Given the description of an element on the screen output the (x, y) to click on. 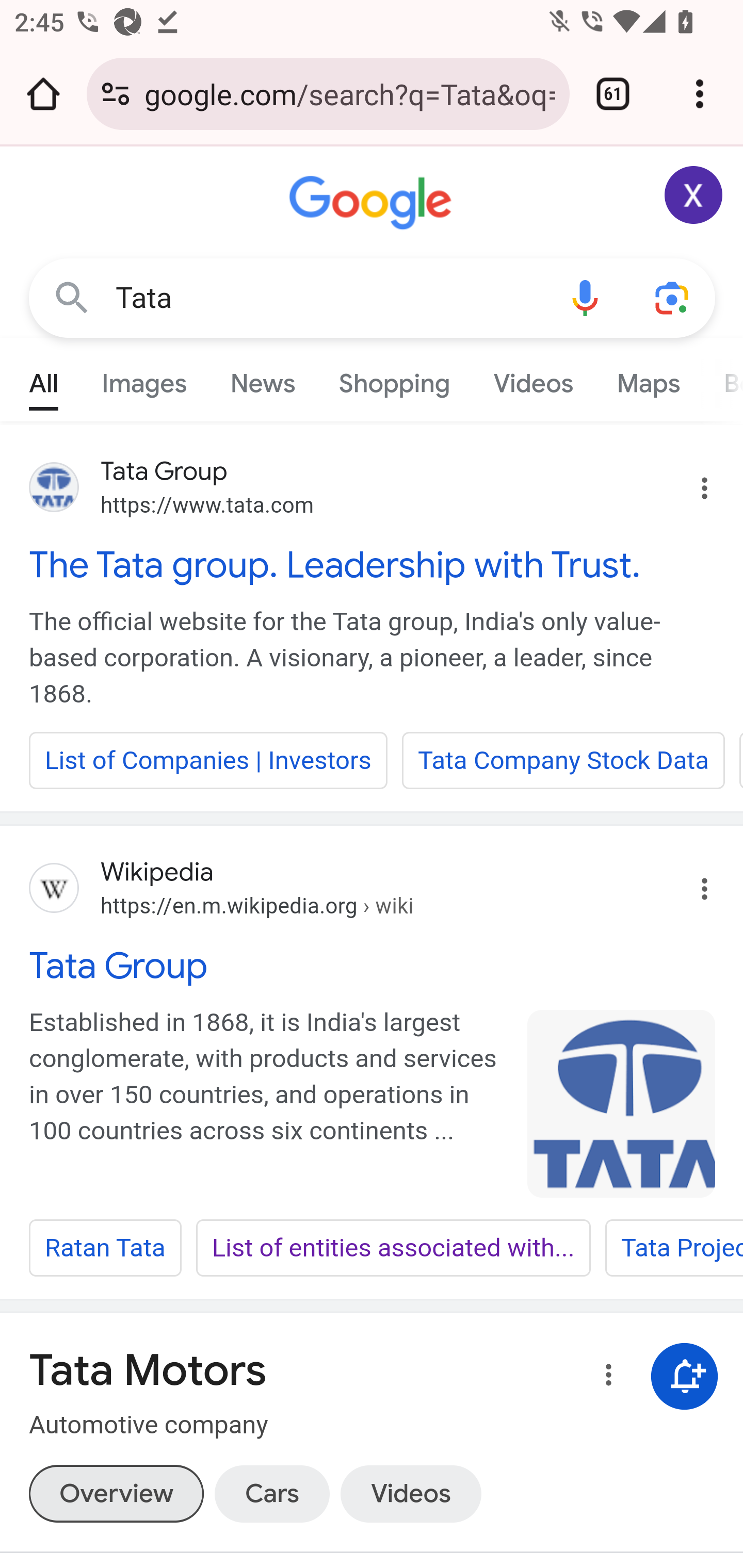
Open the home page (43, 93)
Connection is secure (115, 93)
Switch or close tabs (612, 93)
Customize and control Google Chrome (699, 93)
Google (372, 203)
Google Account: Xiaoran (zxrappiumtest@gmail.com) (694, 195)
Google Search (71, 296)
Search using your camera or photos (672, 296)
Tata (328, 297)
Images (144, 378)
News (262, 378)
Shopping (394, 378)
Videos (533, 378)
Maps (647, 378)
The Tata group. Leadership with Trust. (372, 564)
List of Companies | Investors (207, 760)
Tata Company Stock Data (563, 760)
Tata Group (372, 965)
Tata_Group (621, 1102)
Ratan Tata (105, 1247)
List of entities associated with... (393, 1247)
Tata Projects (673, 1247)
Get notifications about Tata Motors (684, 1376)
More options (605, 1378)
Overview (116, 1493)
Cars (271, 1493)
Videos (410, 1493)
